Given the description of an element on the screen output the (x, y) to click on. 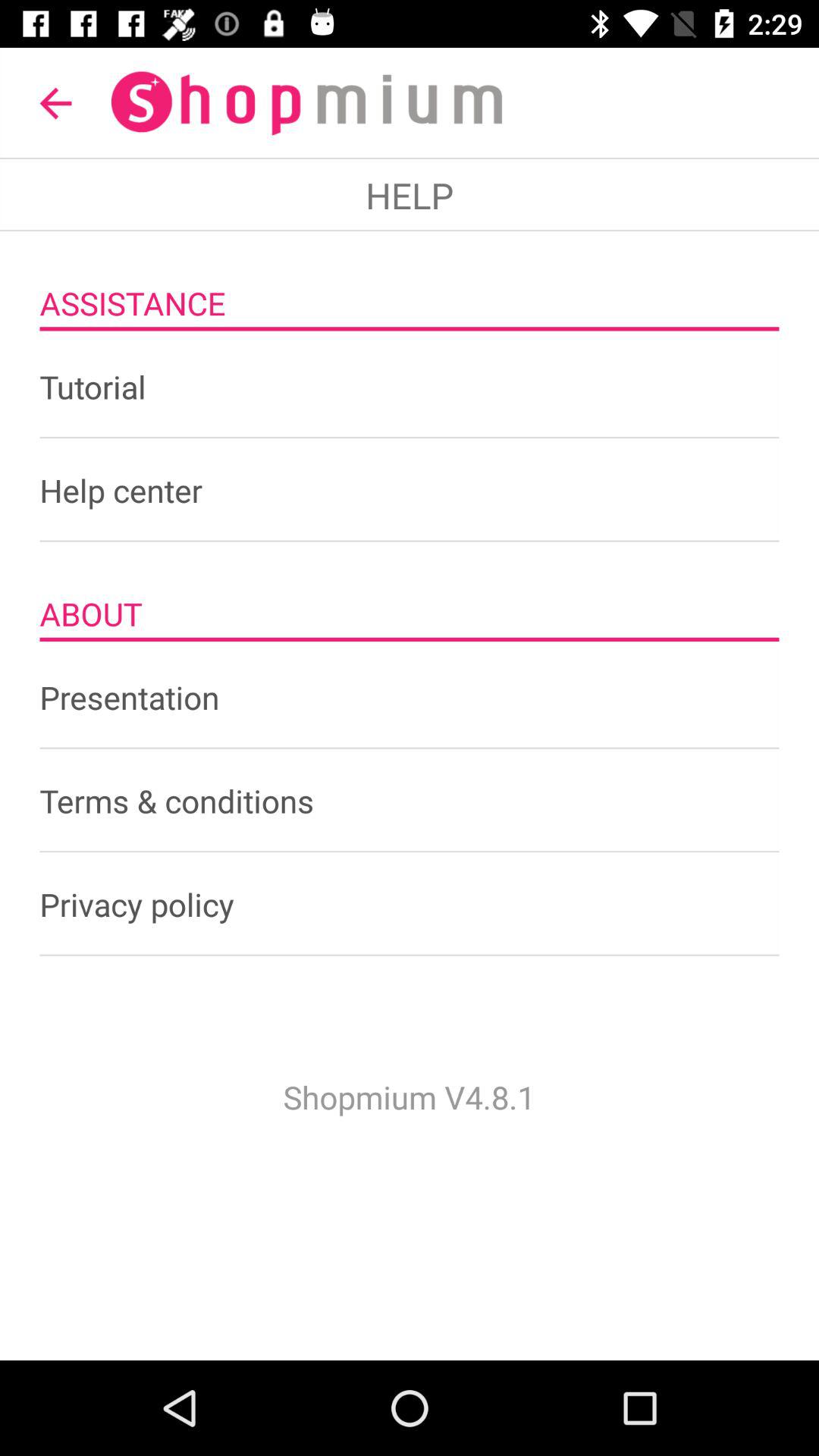
open the item below tutorial item (409, 490)
